Given the description of an element on the screen output the (x, y) to click on. 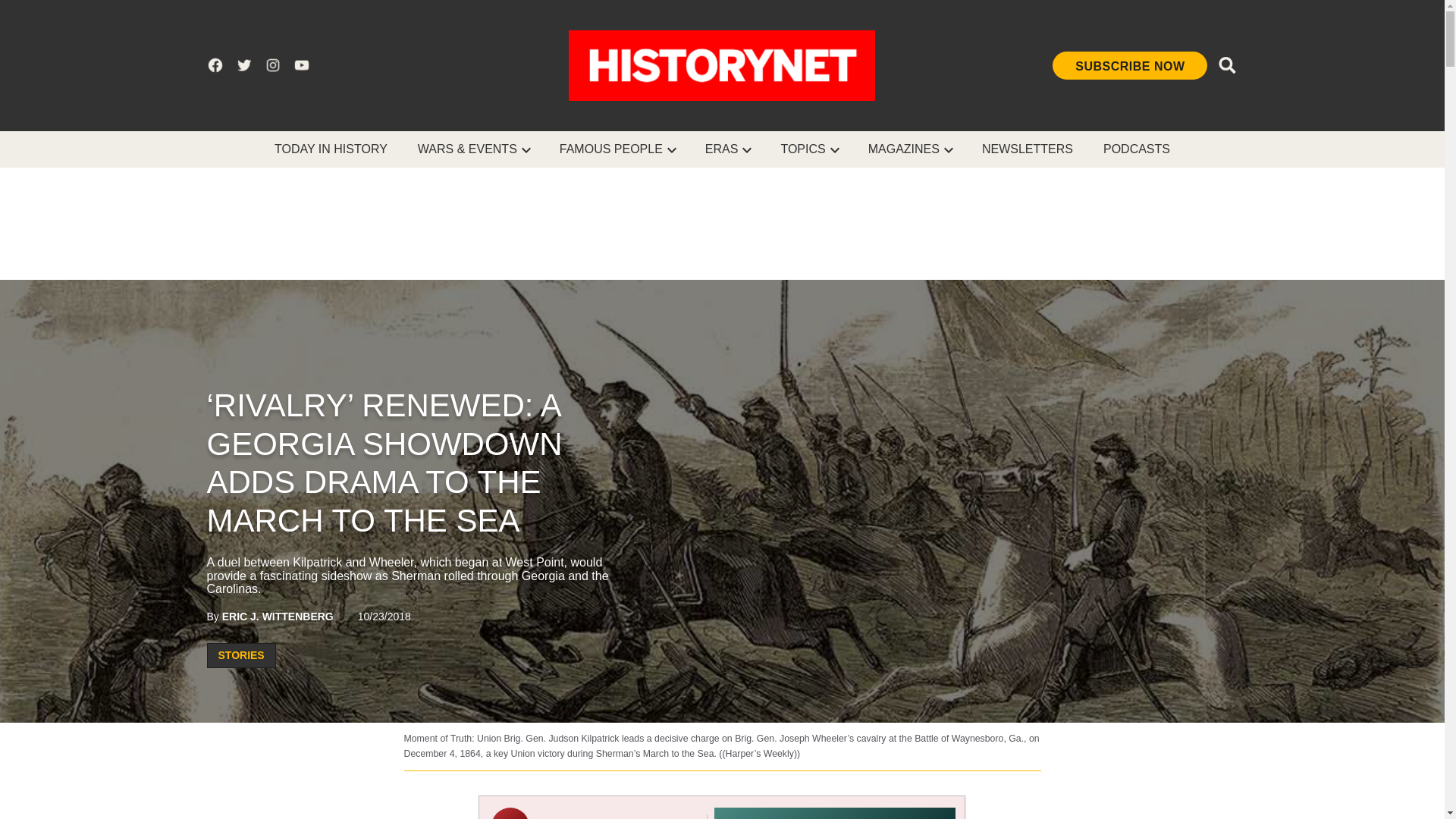
Audio Sponsor (834, 813)
3rd party ad content (721, 223)
Audio Article  (721, 807)
